Given the description of an element on the screen output the (x, y) to click on. 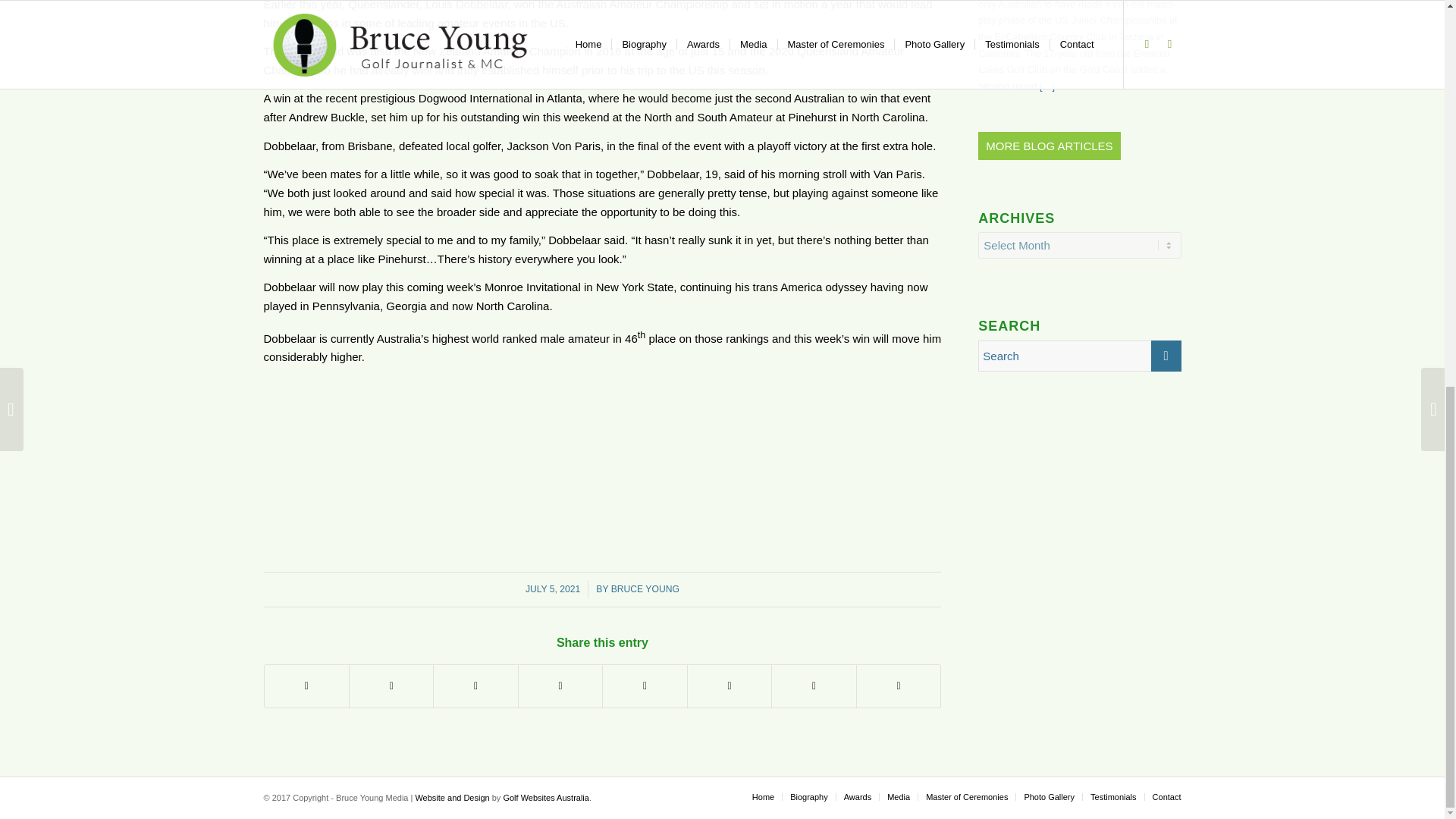
Posts by Bruce Young (645, 588)
Website and Design (451, 797)
Home (763, 796)
Golf Websites Australia (545, 797)
BRUCE YOUNG (645, 588)
MORE BLOG ARTICLES (1048, 145)
